Given the description of an element on the screen output the (x, y) to click on. 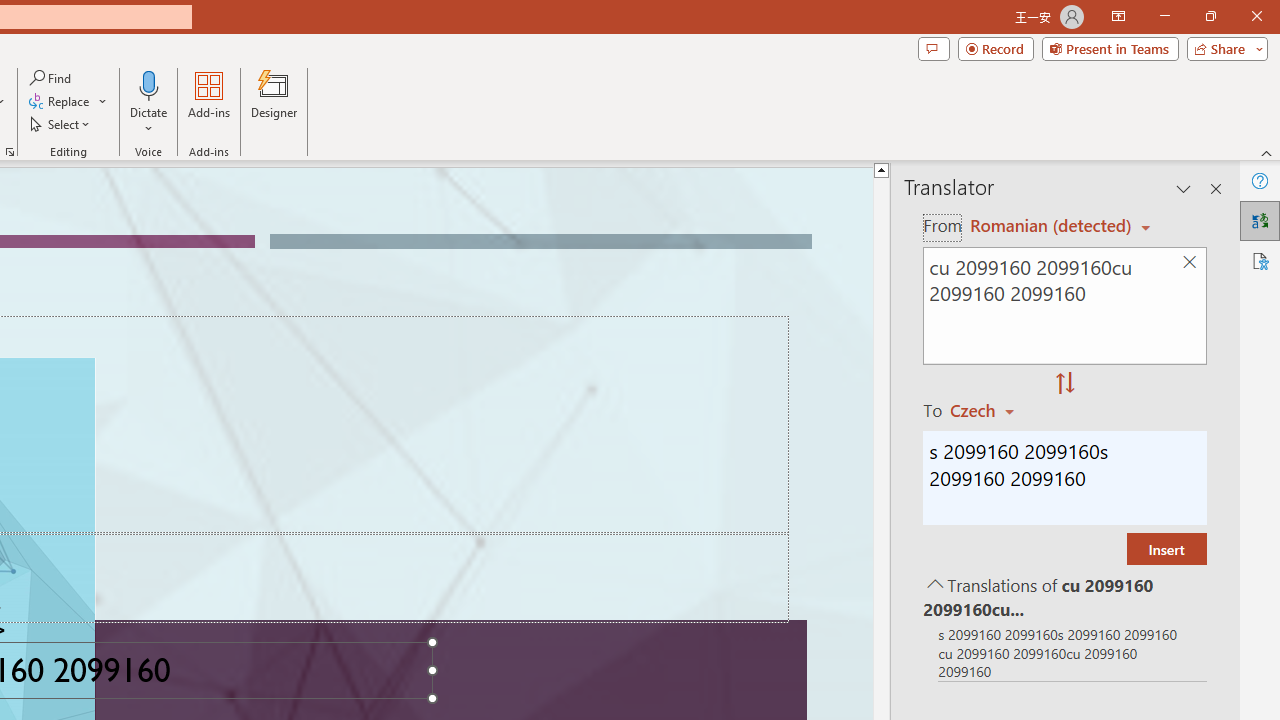
Czech (991, 409)
